Given the description of an element on the screen output the (x, y) to click on. 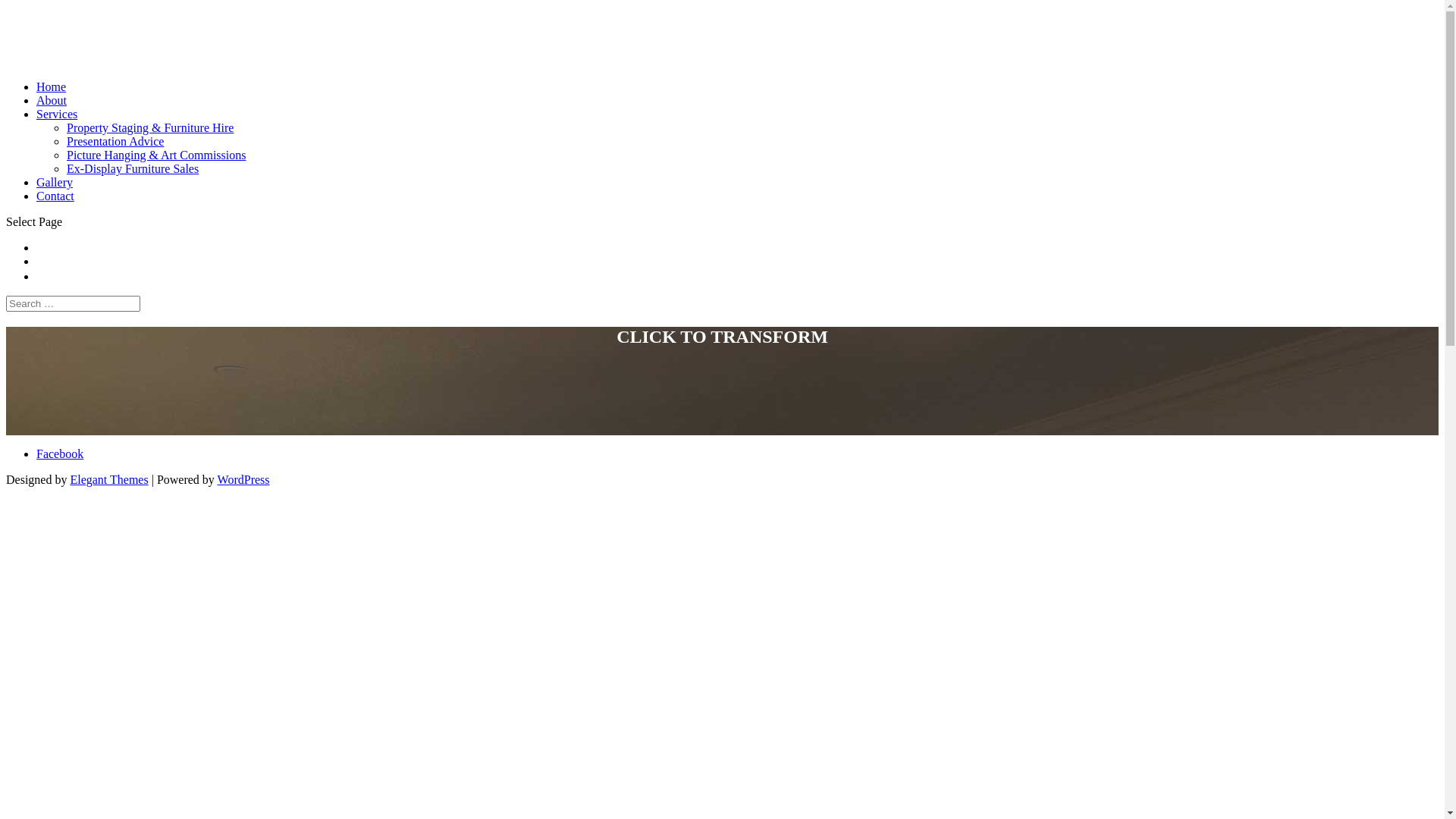
Contact Element type: text (55, 195)
Home Element type: text (50, 86)
Ex-Display Furniture Sales Element type: text (132, 168)
Property Staging & Furniture Hire Element type: text (149, 127)
Picture Hanging & Art Commissions Element type: text (155, 154)
About Element type: text (51, 100)
Gallery Element type: text (54, 181)
Elegant Themes Element type: text (108, 479)
Presentation Advice Element type: text (114, 140)
Facebook Element type: text (59, 453)
Services Element type: text (56, 113)
WordPress Element type: text (243, 479)
Search for: Element type: hover (73, 303)
